Given the description of an element on the screen output the (x, y) to click on. 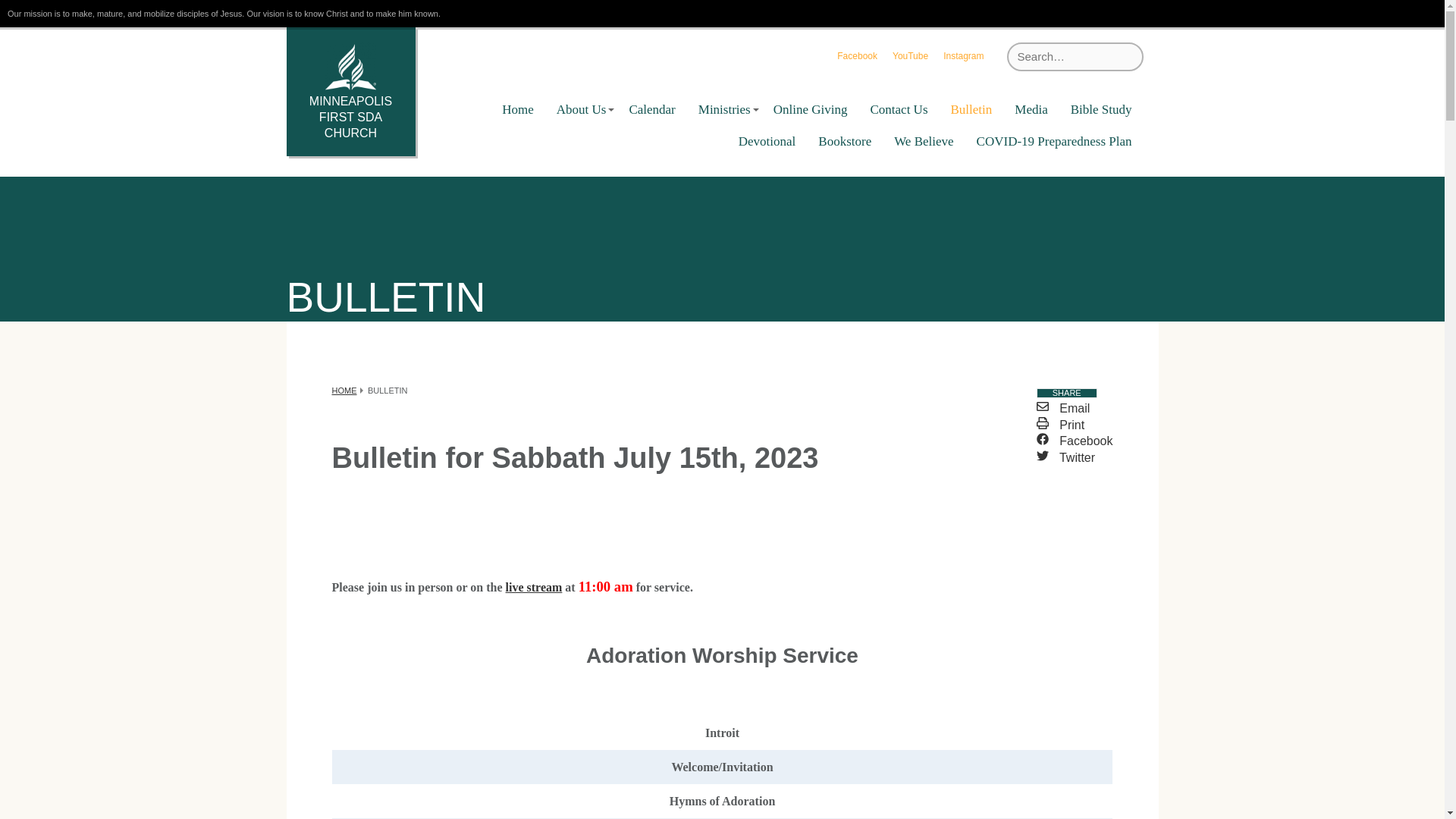
Facebook (857, 56)
Bible Study (1101, 110)
Bookstore (844, 142)
SHARE (1066, 393)
Home (517, 110)
Bulletin (971, 110)
Facebook (1074, 440)
Email (1062, 408)
Media (1030, 110)
COVID-19 Preparedness Plan (1053, 142)
Ministries (724, 110)
Devotional (767, 142)
live stream (533, 586)
Instagram (963, 56)
